Given the description of an element on the screen output the (x, y) to click on. 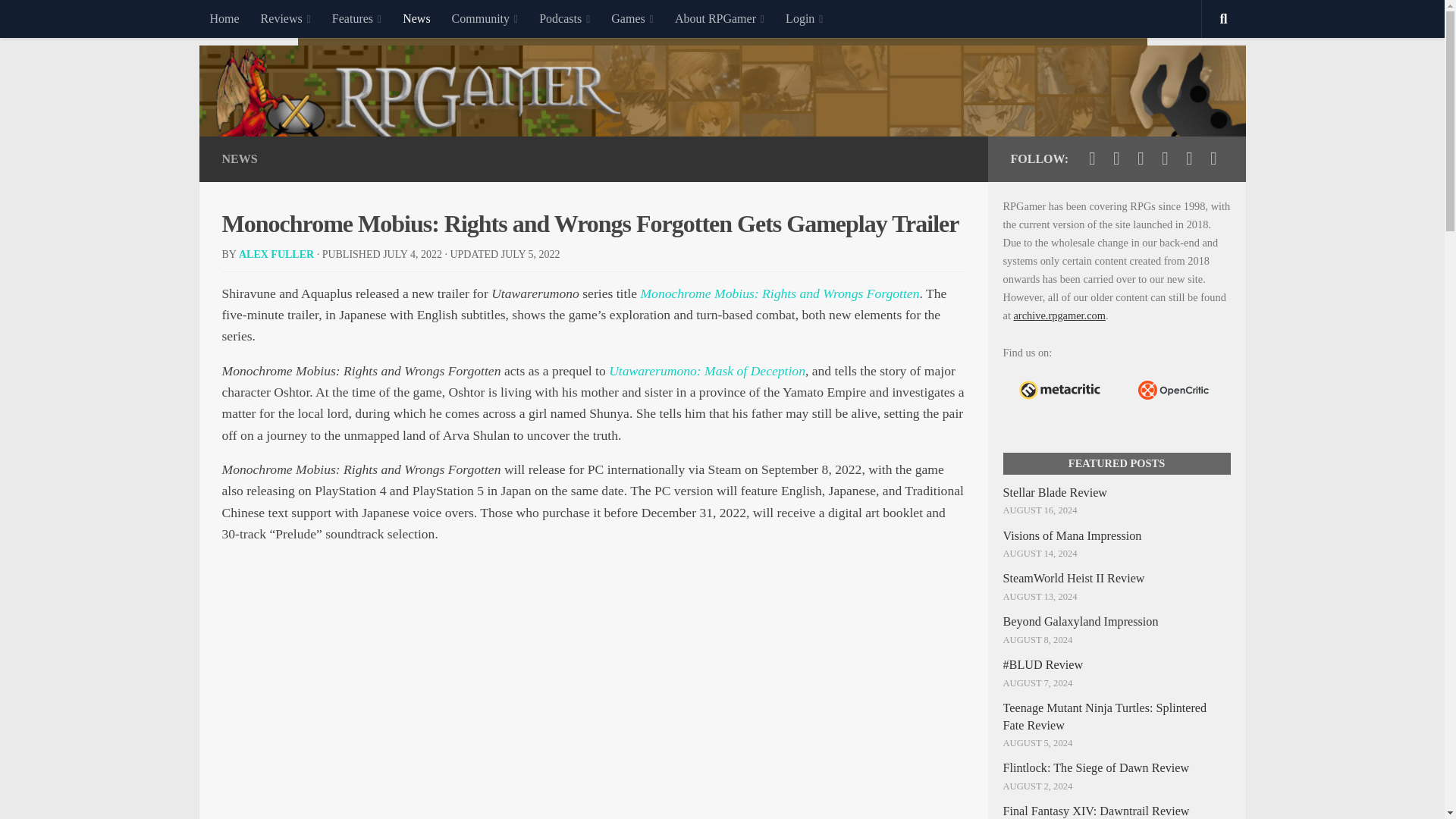
Follow us on Twitter (1091, 158)
Posts by Alex Fuller (276, 254)
Skip to content (59, 20)
Follow us on Discord (1188, 158)
Follow us on Facebook (1115, 158)
YouTube video player (592, 705)
Follow us on Twitch (1164, 158)
Follow us on Youtube (1140, 158)
Follow us on Rss (1213, 158)
